Given the description of an element on the screen output the (x, y) to click on. 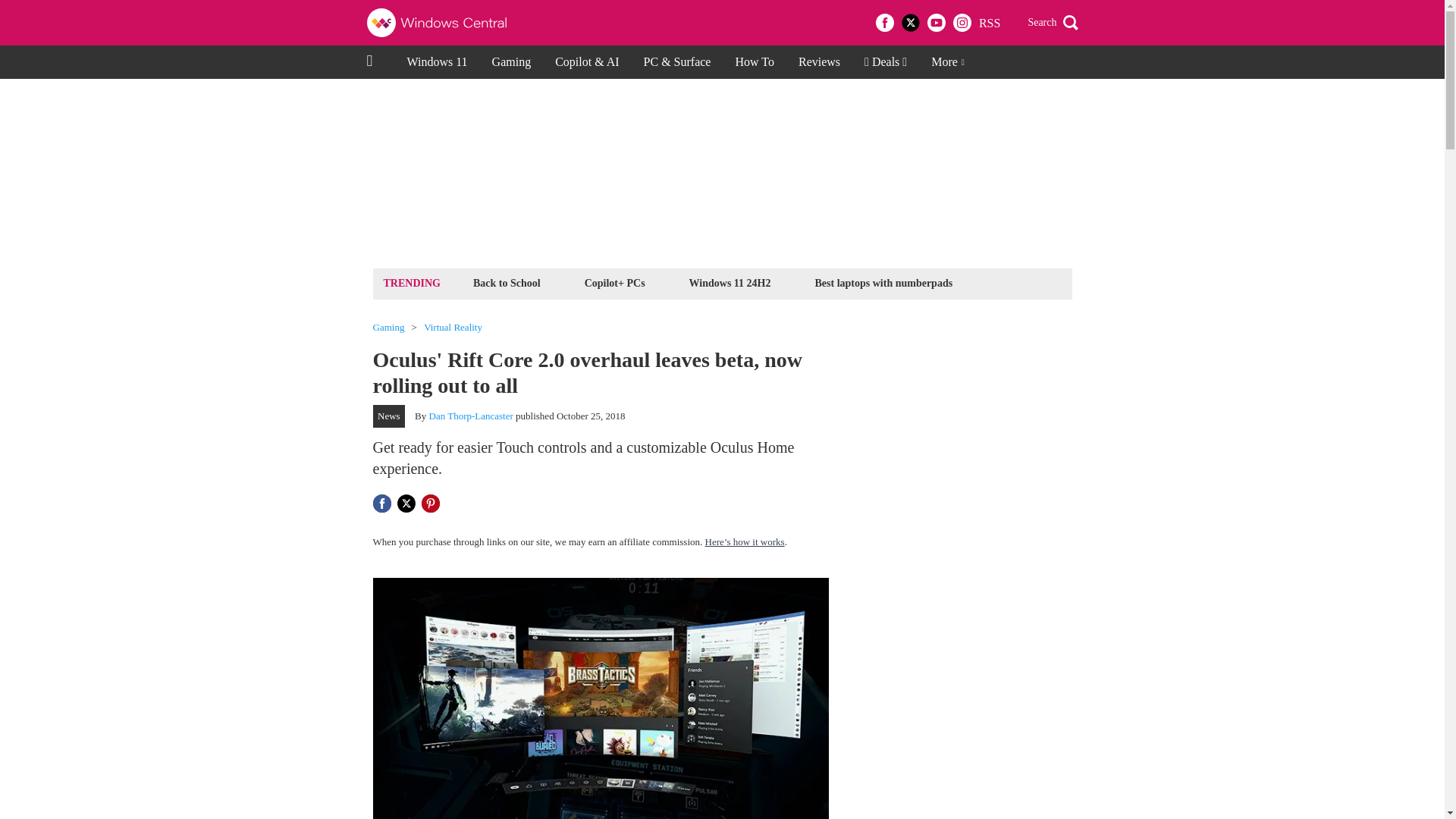
Virtual Reality (452, 327)
Gaming (511, 61)
How To (754, 61)
Gaming (388, 327)
Back to School (506, 282)
RSS (989, 22)
Reviews (818, 61)
Windows 11 (436, 61)
Best laptops with numberpads (883, 282)
Windows 11 24H2 (730, 282)
